Given the description of an element on the screen output the (x, y) to click on. 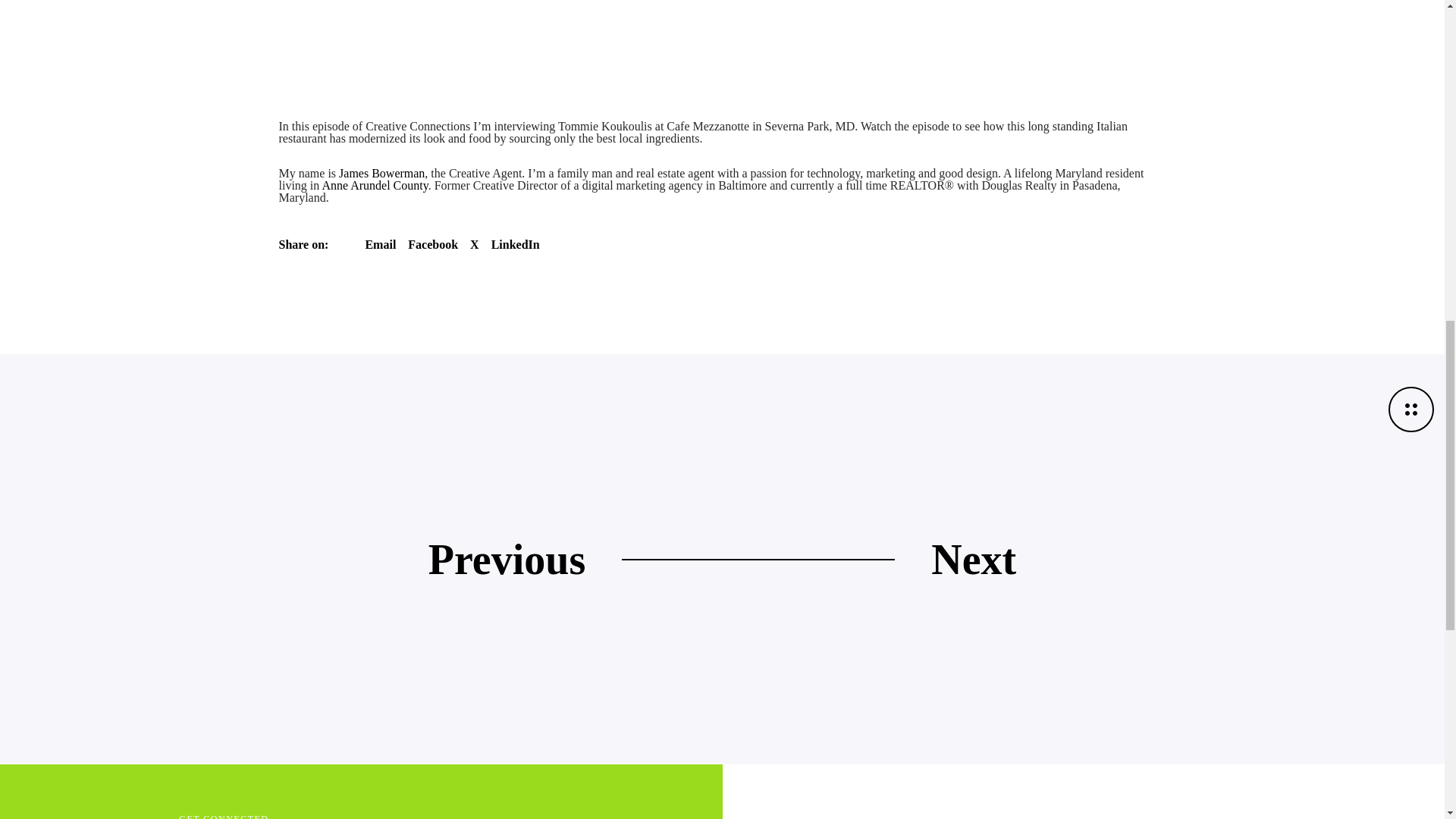
Next (973, 558)
Cafe Mezzanotte with Tommie Koukoulis (516, 244)
Email (380, 244)
Anne Arundel County (374, 185)
Cafe Mezzanotte with Tommie Koukoulis (380, 244)
James Bowerman (382, 173)
Facebook (432, 244)
Cafe Mezzanotte with Tommie Koukoulis (432, 244)
Previous (506, 558)
Creative Connections S02E07 Cafe Mezzanotte (688, 26)
